Given the description of an element on the screen output the (x, y) to click on. 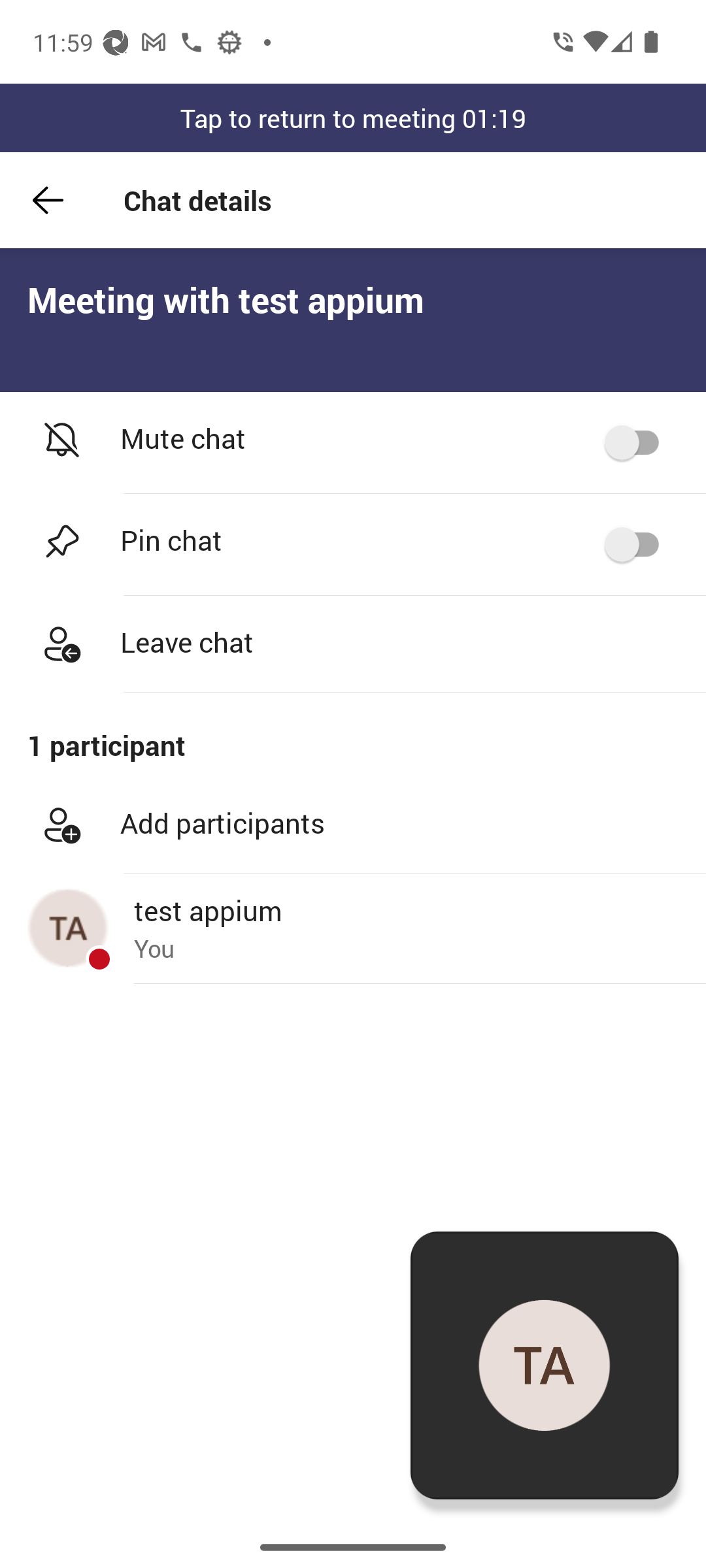
Tap to return to meeting 01:19 (353, 117)
Back (48, 199)
Mute chat (353, 442)
Pin chat (353, 544)
Leave chat (353, 644)
Add participants (353, 824)
